Given the description of an element on the screen output the (x, y) to click on. 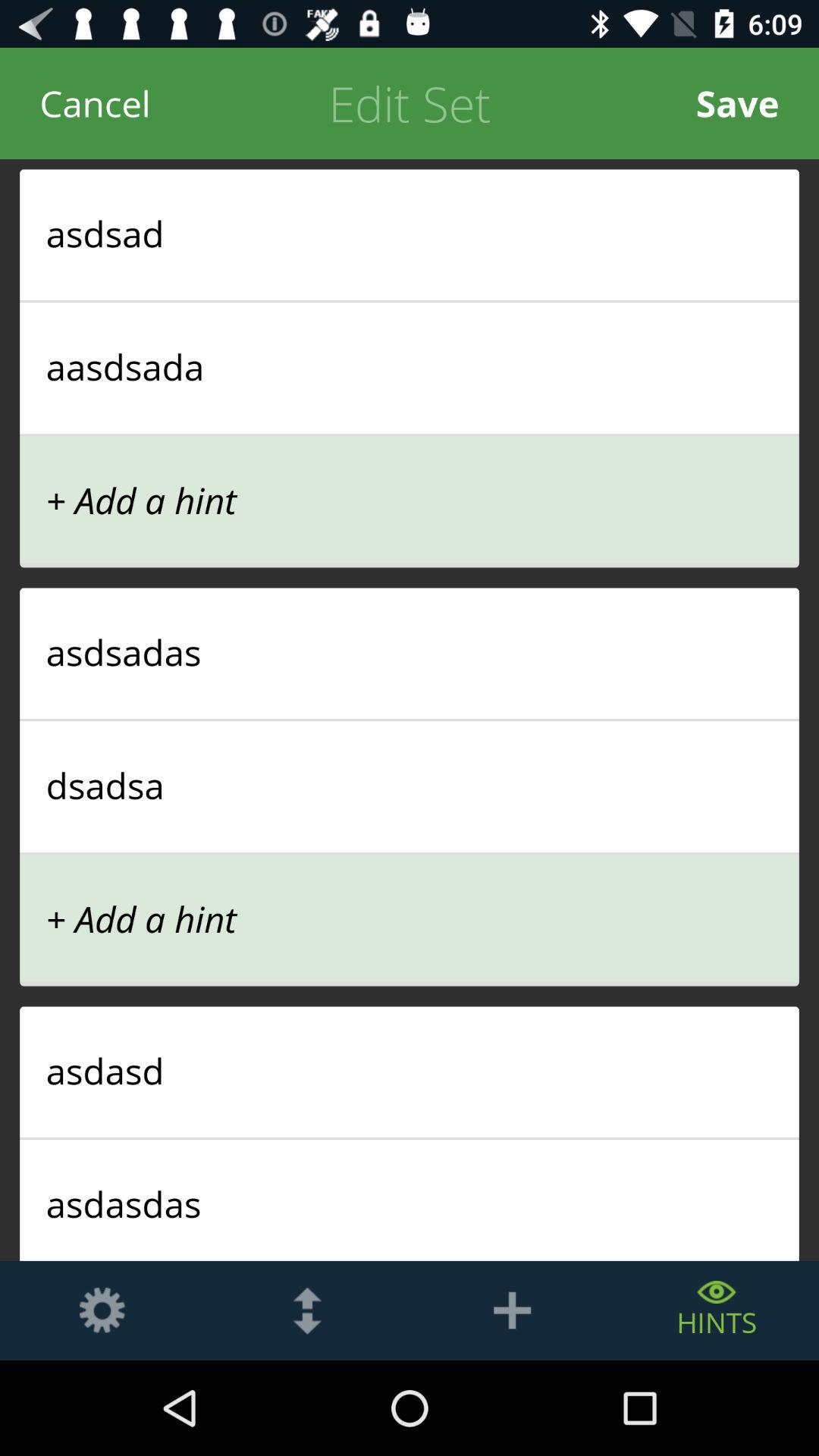
launch the item at the top left corner (95, 103)
